Given the description of an element on the screen output the (x, y) to click on. 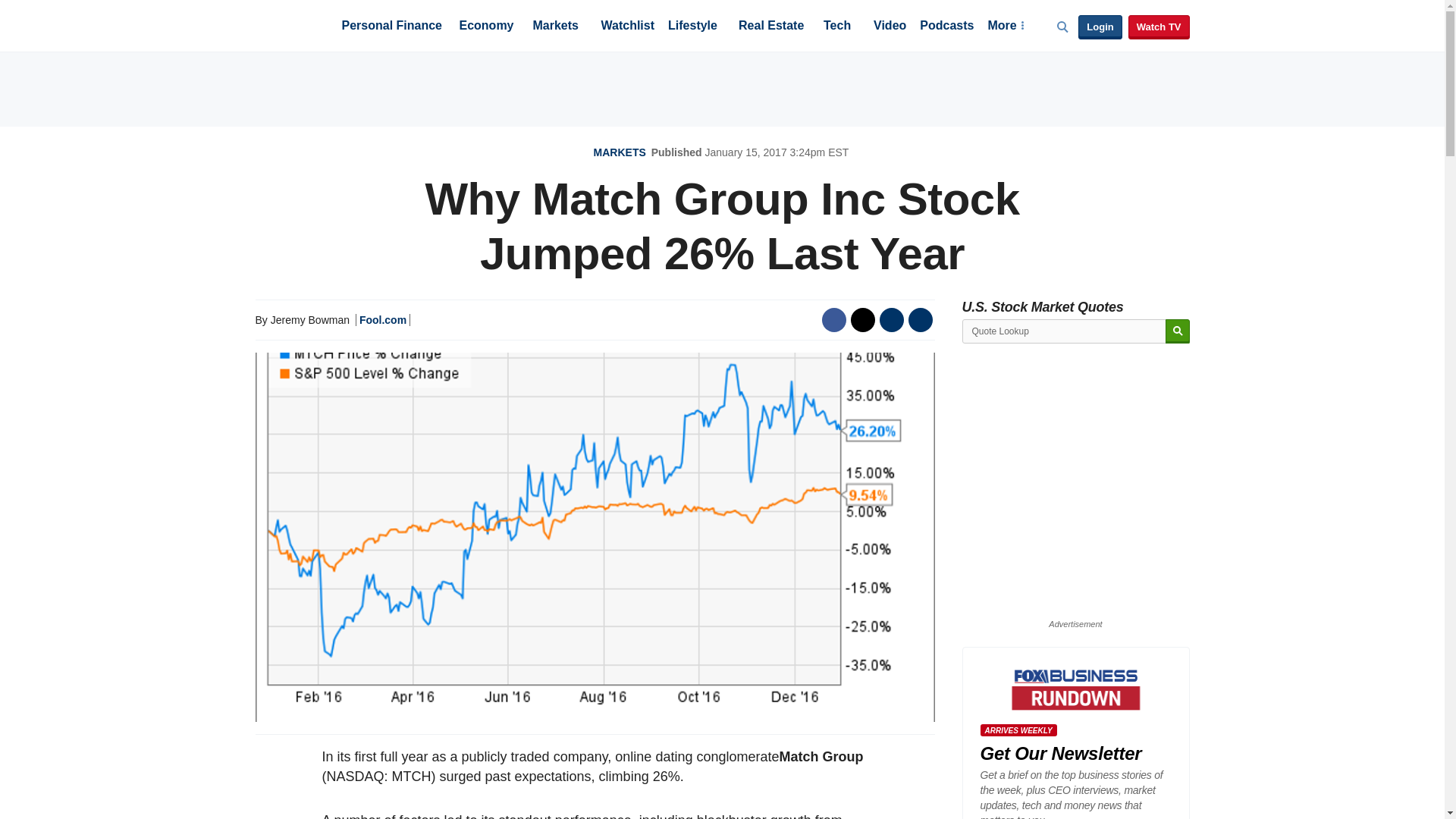
Fox Business (290, 24)
Markets (555, 27)
Watchlist (626, 27)
Search (1176, 331)
Login (1099, 27)
Real Estate (770, 27)
Podcasts (947, 27)
Lifestyle (692, 27)
More (1005, 27)
Video (889, 27)
Personal Finance (391, 27)
Tech (837, 27)
Watch TV (1158, 27)
Economy (486, 27)
Search (1176, 331)
